Given the description of an element on the screen output the (x, y) to click on. 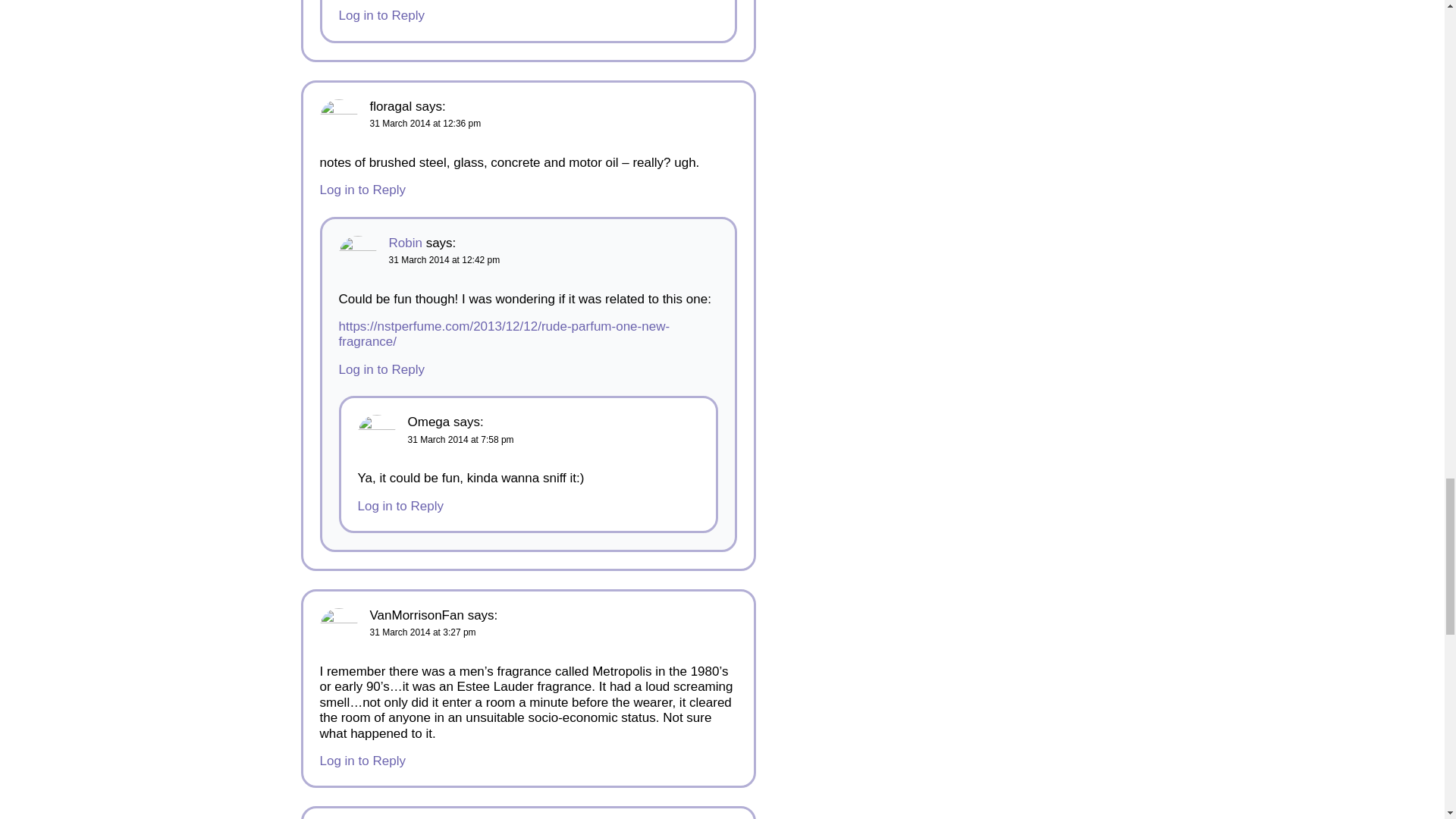
Log in to Reply (363, 189)
Log in to Reply (401, 505)
Robin (405, 242)
Log in to Reply (380, 369)
Log in to Reply (380, 15)
Log in to Reply (363, 760)
